Given the description of an element on the screen output the (x, y) to click on. 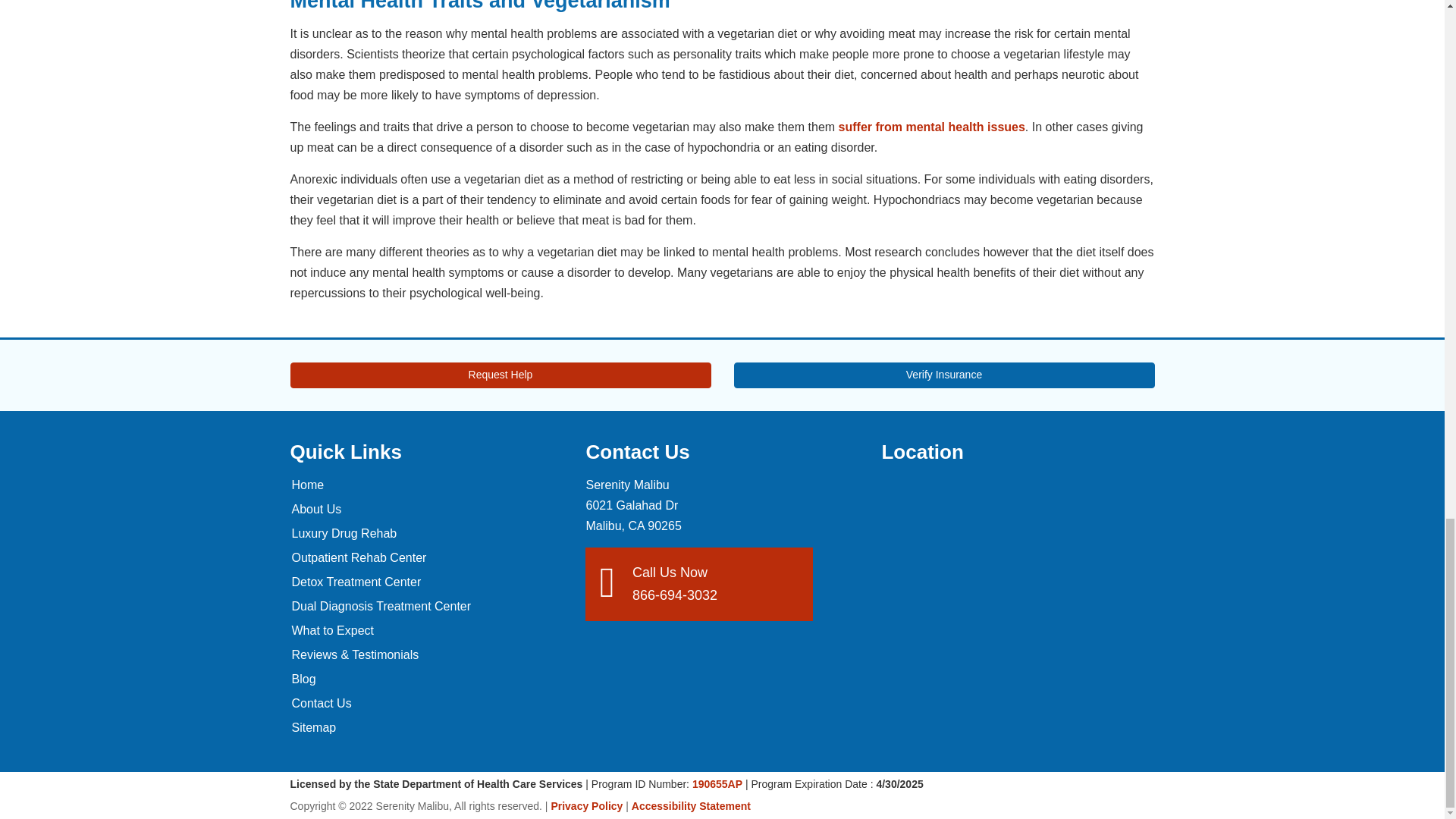
suffer from mental health issues (931, 126)
Request Help (499, 374)
